Given the description of an element on the screen output the (x, y) to click on. 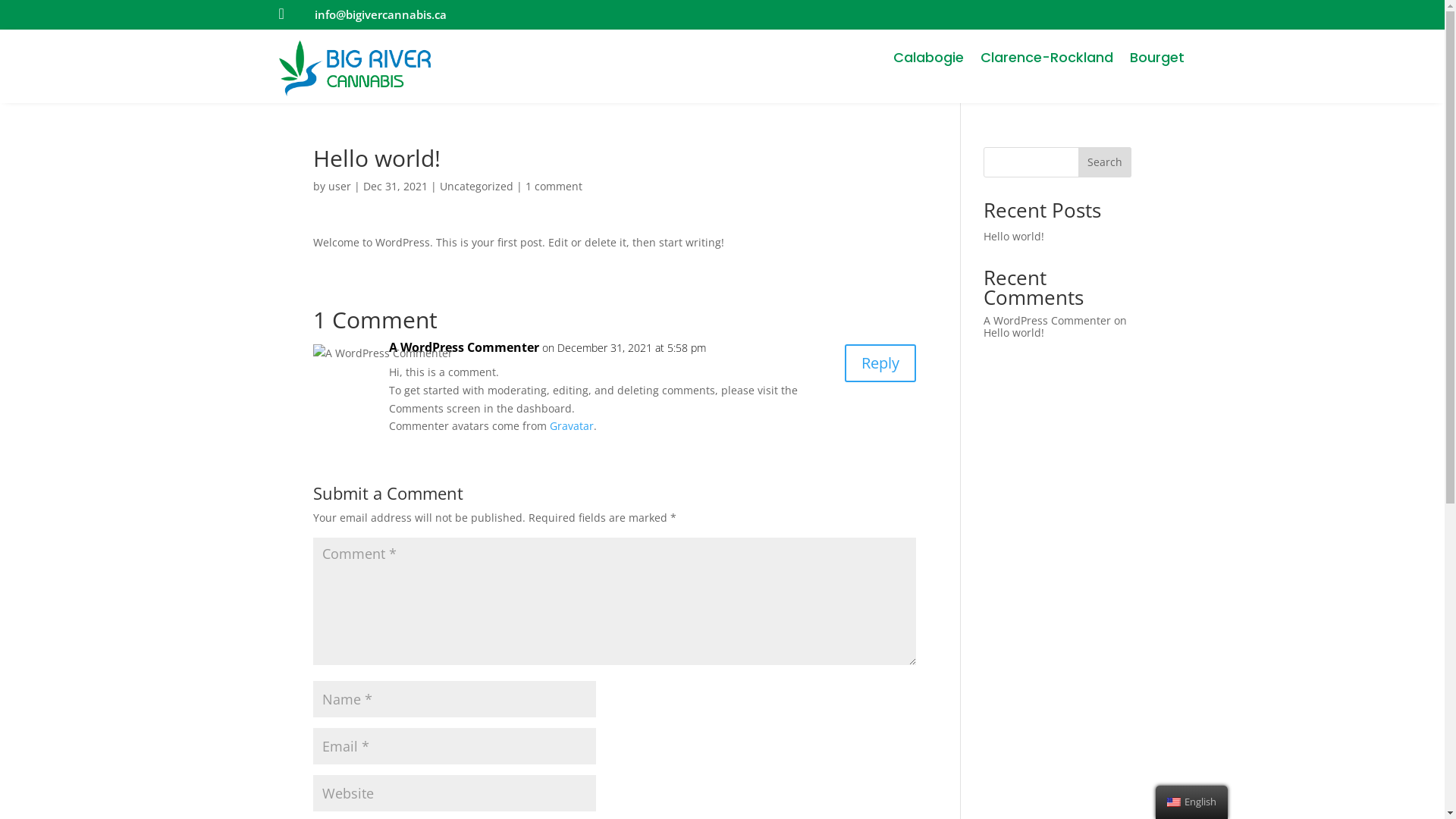
Clarence-Rockland Element type: text (1046, 60)
Hello world! Element type: text (1013, 236)
A WordPress Commenter Element type: text (1046, 320)
Uncategorized Element type: text (476, 185)
1 comment Element type: text (552, 185)
English Element type: hover (1173, 801)
user Element type: text (338, 185)
Hello world! Element type: text (1013, 332)
brc-navbar-logo-horizontal-2023 Element type: hover (354, 68)
Reply Element type: text (880, 363)
A WordPress Commenter Element type: text (463, 347)
Gravatar Element type: text (571, 425)
Calabogie Element type: text (928, 60)
Search Element type: text (1104, 162)
Bourget Element type: text (1156, 60)
